Given the description of an element on the screen output the (x, y) to click on. 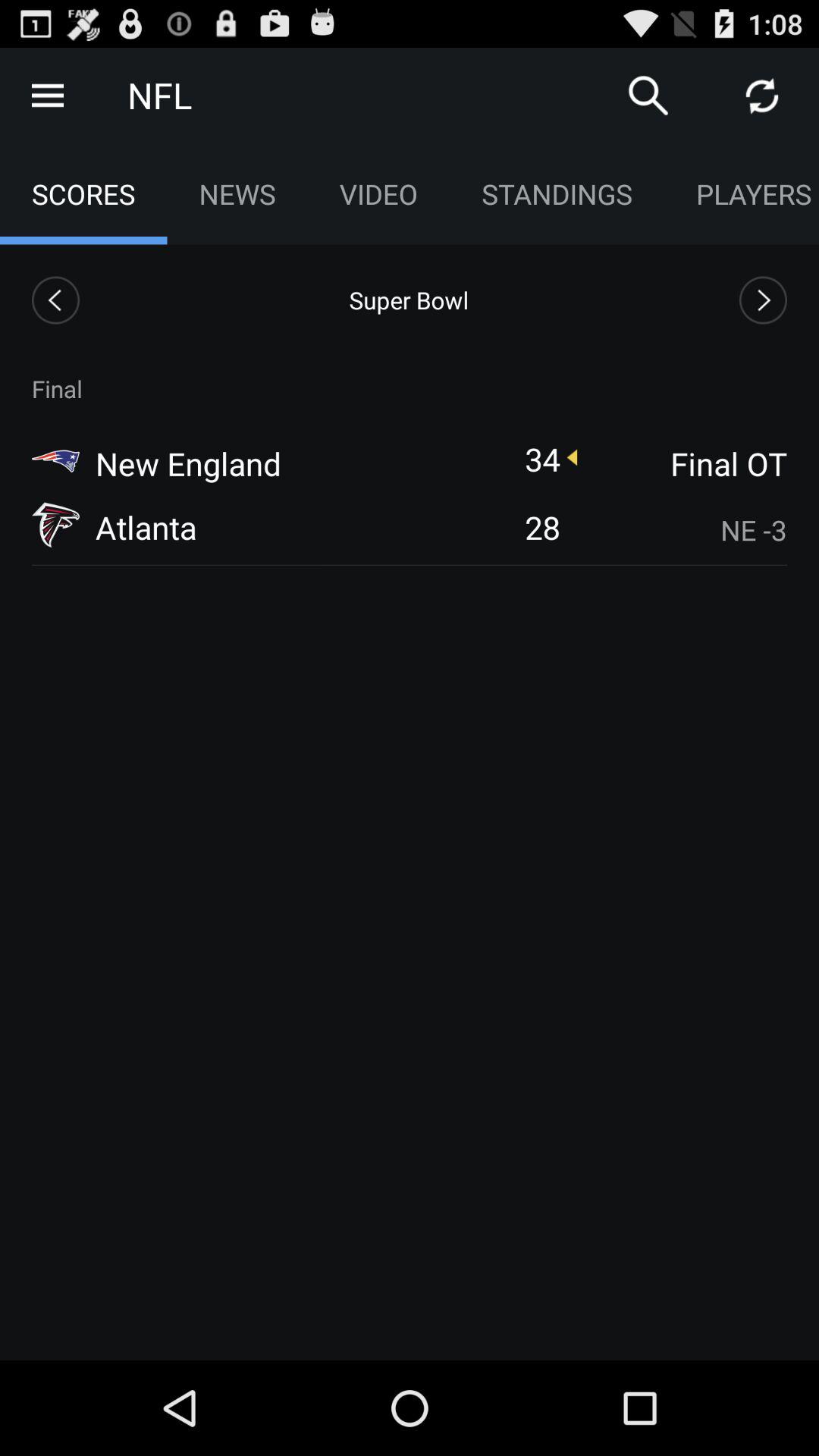
refresh (762, 95)
